Given the description of an element on the screen output the (x, y) to click on. 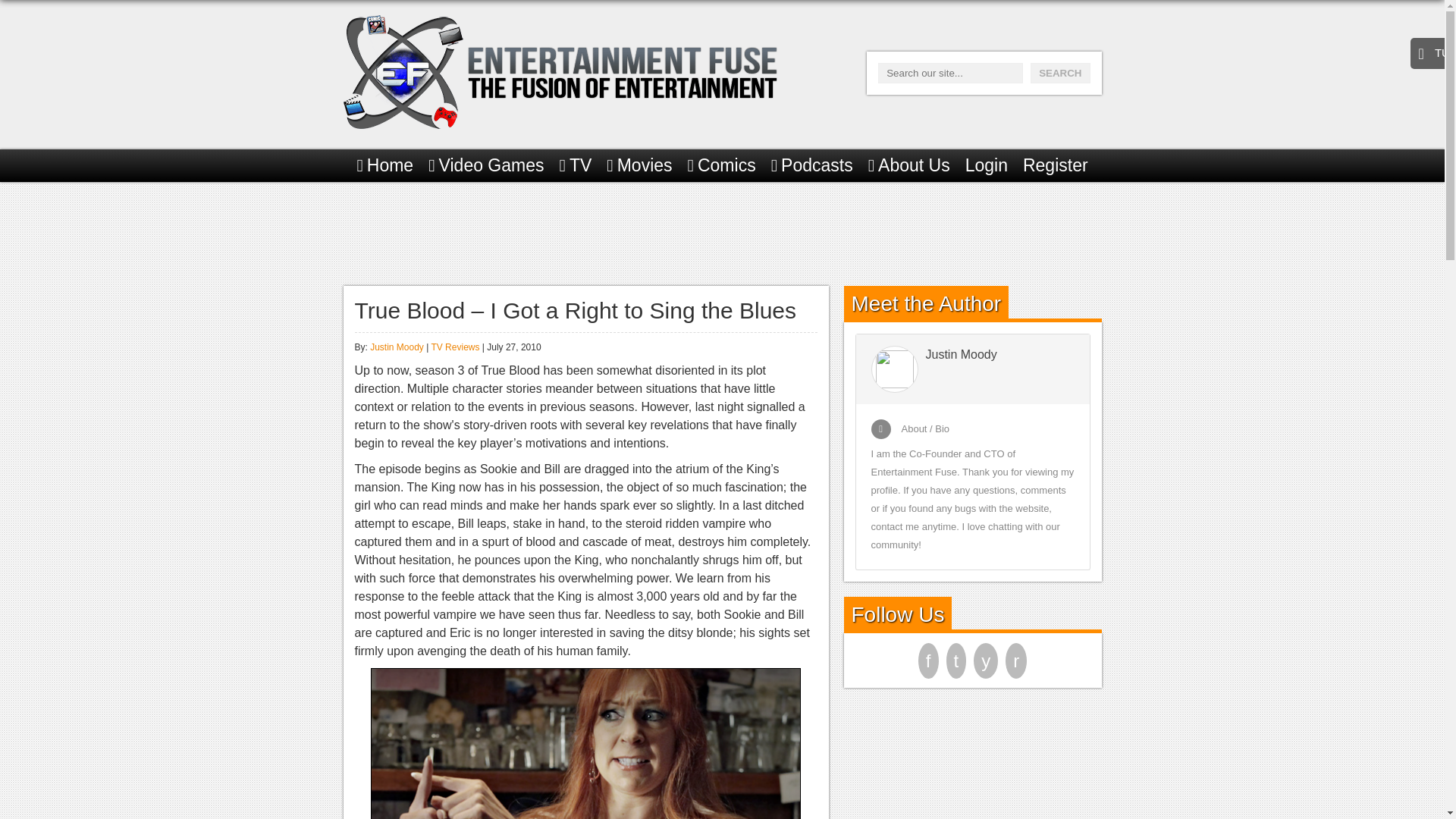
Posts by Justin Moody (396, 347)
TV (575, 165)
Home (384, 165)
Comics (721, 165)
Video Games (485, 165)
Search (1059, 73)
Movies (639, 165)
Search (1059, 73)
